Given the description of an element on the screen output the (x, y) to click on. 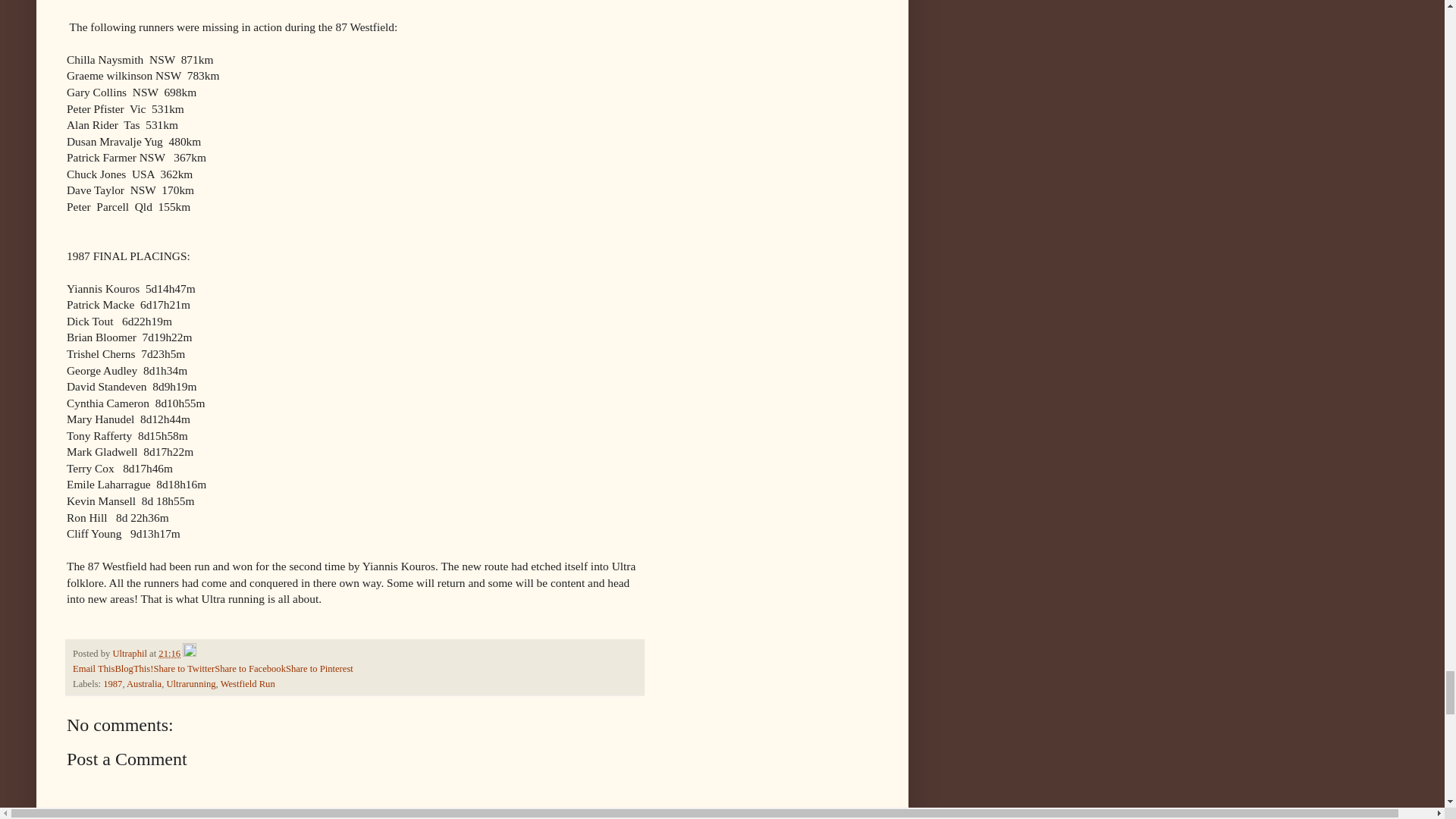
Share to Facebook (249, 668)
Share to Pinterest (319, 668)
Share to Facebook (249, 668)
21:16 (169, 653)
Email This (93, 668)
author profile (130, 653)
Ultrarunning (190, 683)
1987 (112, 683)
Share to Twitter (183, 668)
Westfield Run (248, 683)
Ultraphil (130, 653)
Share to Twitter (183, 668)
BlogThis! (133, 668)
permanent link (169, 653)
BlogThis! (133, 668)
